Given the description of an element on the screen output the (x, y) to click on. 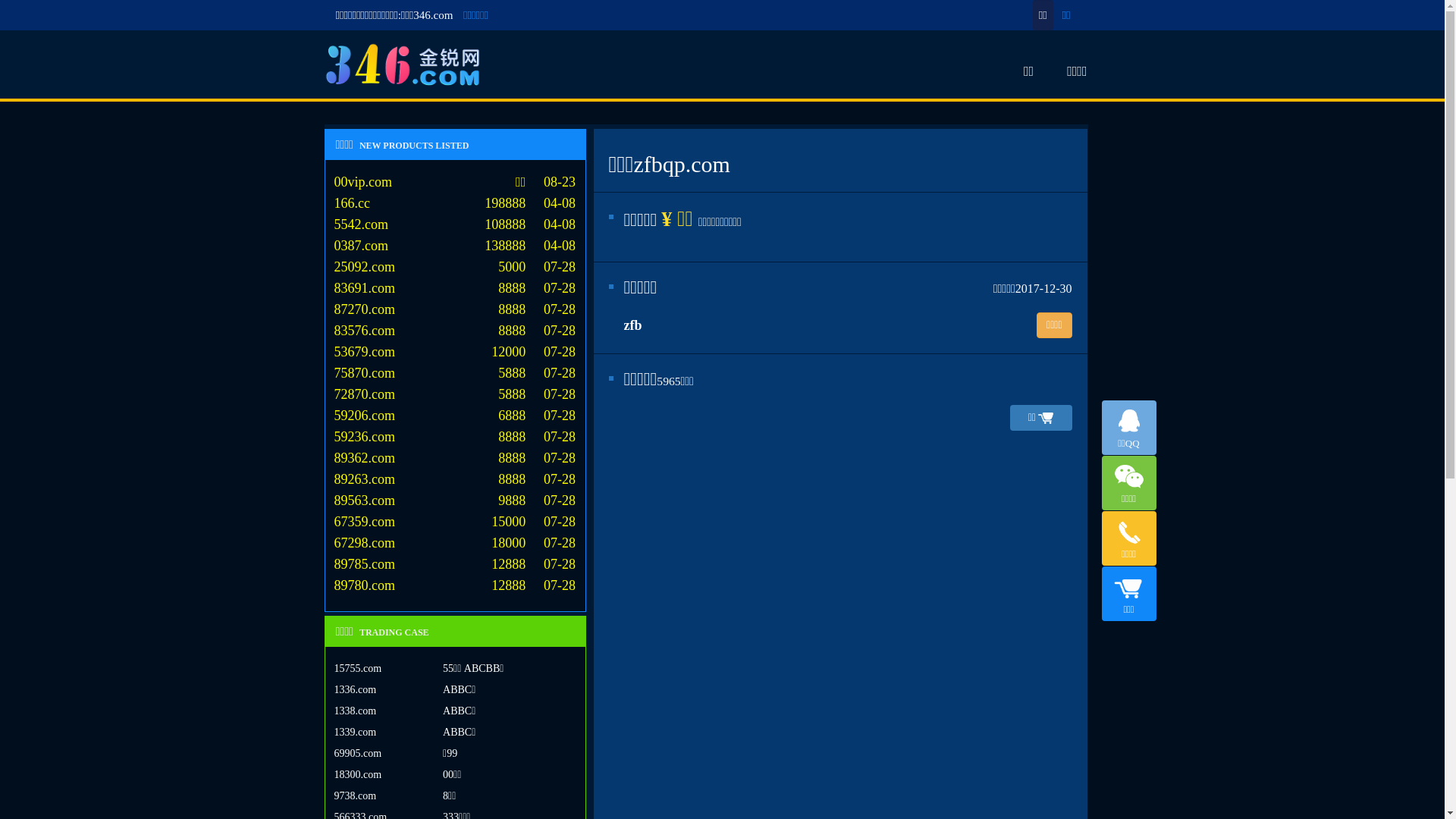
72870.com 5888 07-28 Element type: text (454, 399)
89780.com 12888 07-28 Element type: text (454, 591)
83691.com 8888 07-28 Element type: text (454, 293)
346.com Element type: hover (402, 64)
89563.com 9888 07-28 Element type: text (454, 506)
59206.com 6888 07-28 Element type: text (454, 421)
25092.com 5000 07-28 Element type: text (454, 272)
89263.com 8888 07-28 Element type: text (454, 484)
0387.com 138888 04-08 Element type: text (454, 251)
67298.com 18000 07-28 Element type: text (454, 548)
53679.com 12000 07-28 Element type: text (454, 357)
5542.com 108888 04-08 Element type: text (454, 230)
89785.com 12888 07-28 Element type: text (454, 569)
67359.com 15000 07-28 Element type: text (454, 527)
75870.com 5888 07-28 Element type: text (454, 378)
59236.com 8888 07-28 Element type: text (454, 442)
166.cc 198888 04-08 Element type: text (454, 208)
87270.com 8888 07-28 Element type: text (454, 315)
89362.com 8888 07-28 Element type: text (454, 463)
83576.com 8888 07-28 Element type: text (454, 336)
